Given the description of an element on the screen output the (x, y) to click on. 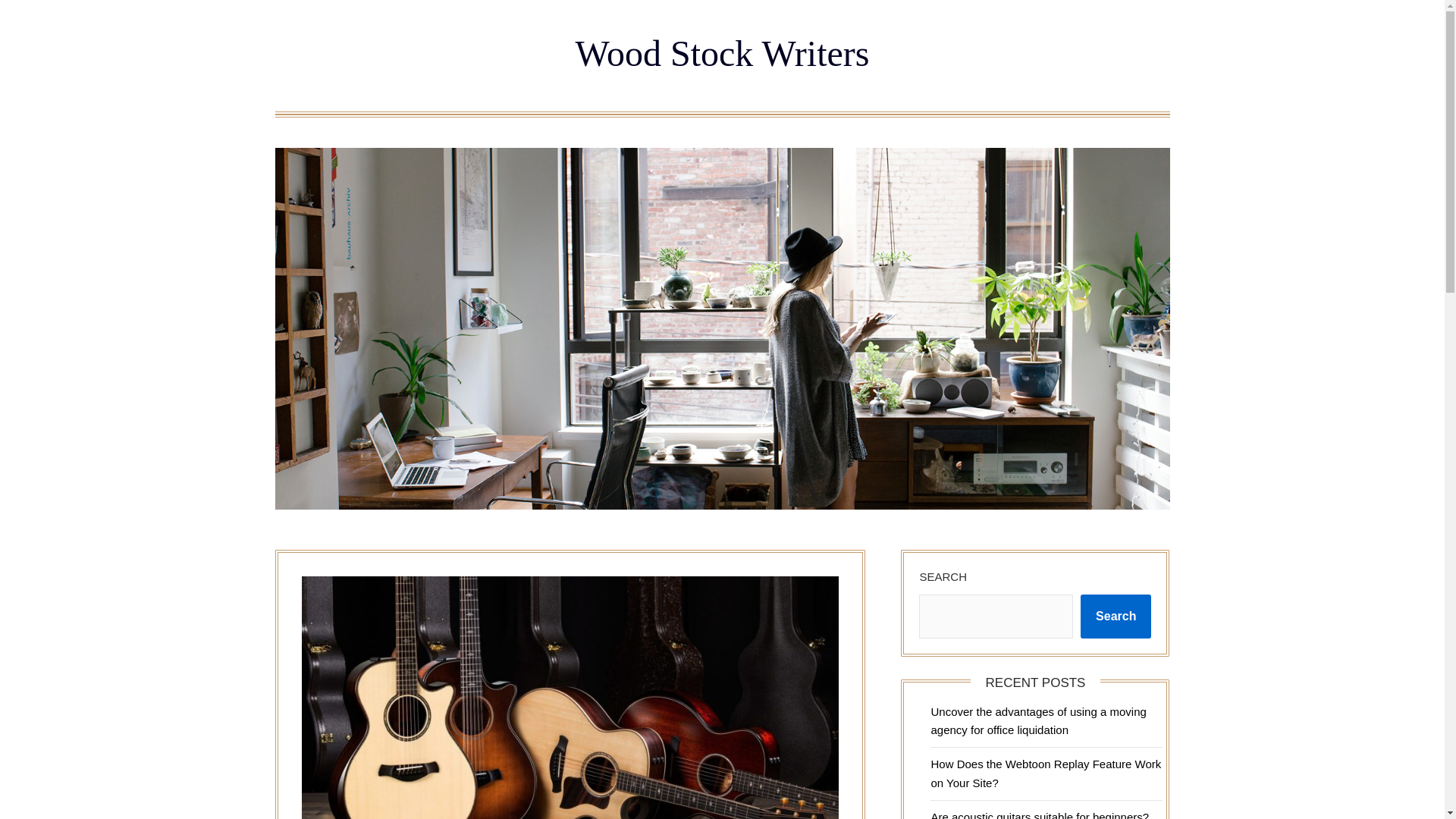
How Does the Webtoon Replay Feature Work on Your Site? (1045, 772)
Wood Stock Writers (722, 53)
Are acoustic guitars suitable for beginners? (1039, 814)
Search (1115, 616)
